Given the description of an element on the screen output the (x, y) to click on. 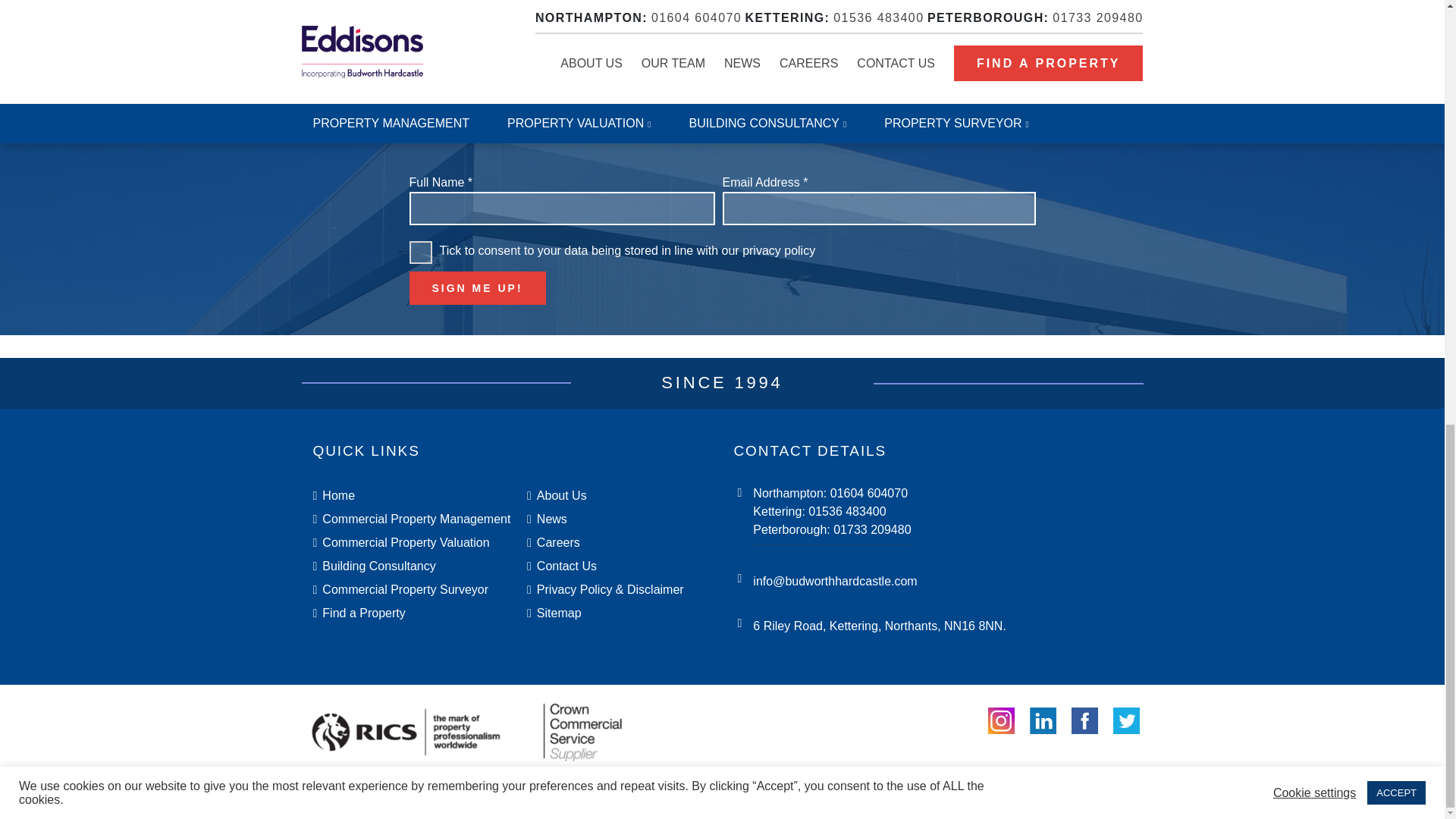
Sign me up! (477, 287)
